Given the description of an element on the screen output the (x, y) to click on. 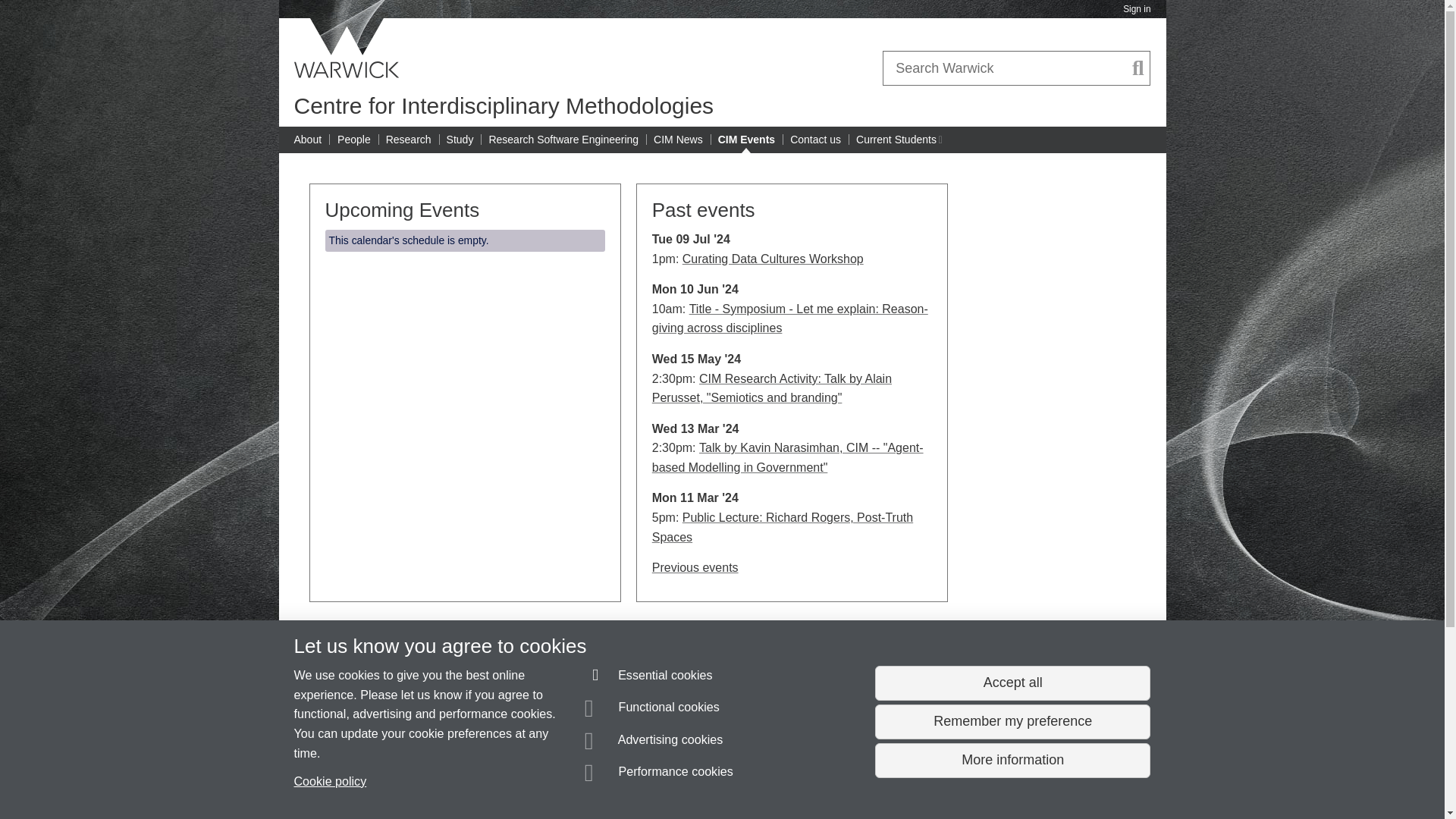
University of Warwick homepage (346, 48)
Study (460, 139)
CIM Events (745, 139)
true (782, 527)
true (504, 105)
Sign in (1138, 68)
About (787, 457)
Contact us (771, 388)
